Given the description of an element on the screen output the (x, y) to click on. 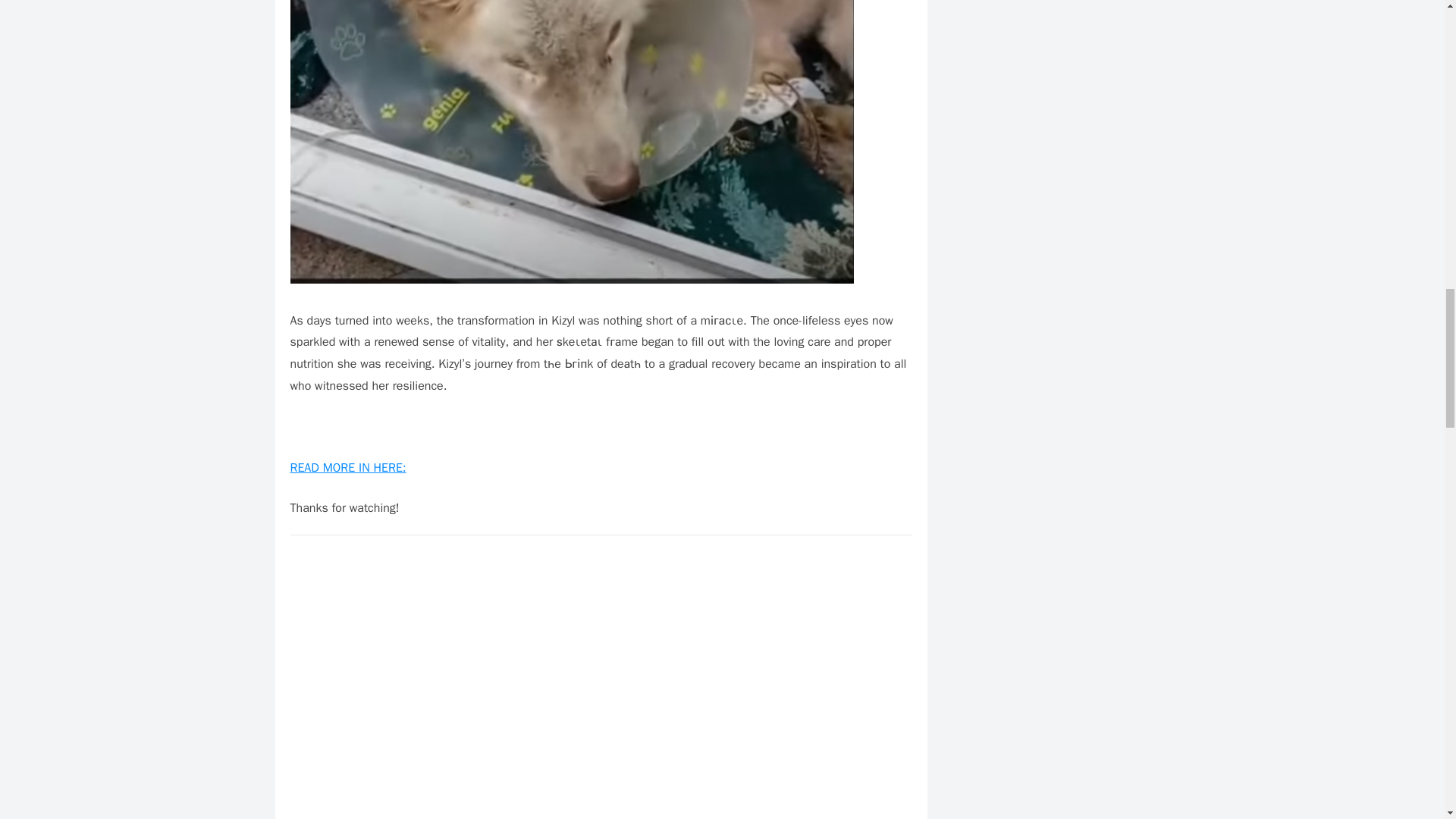
READ MORE IN HERE: (347, 467)
